Given the description of an element on the screen output the (x, y) to click on. 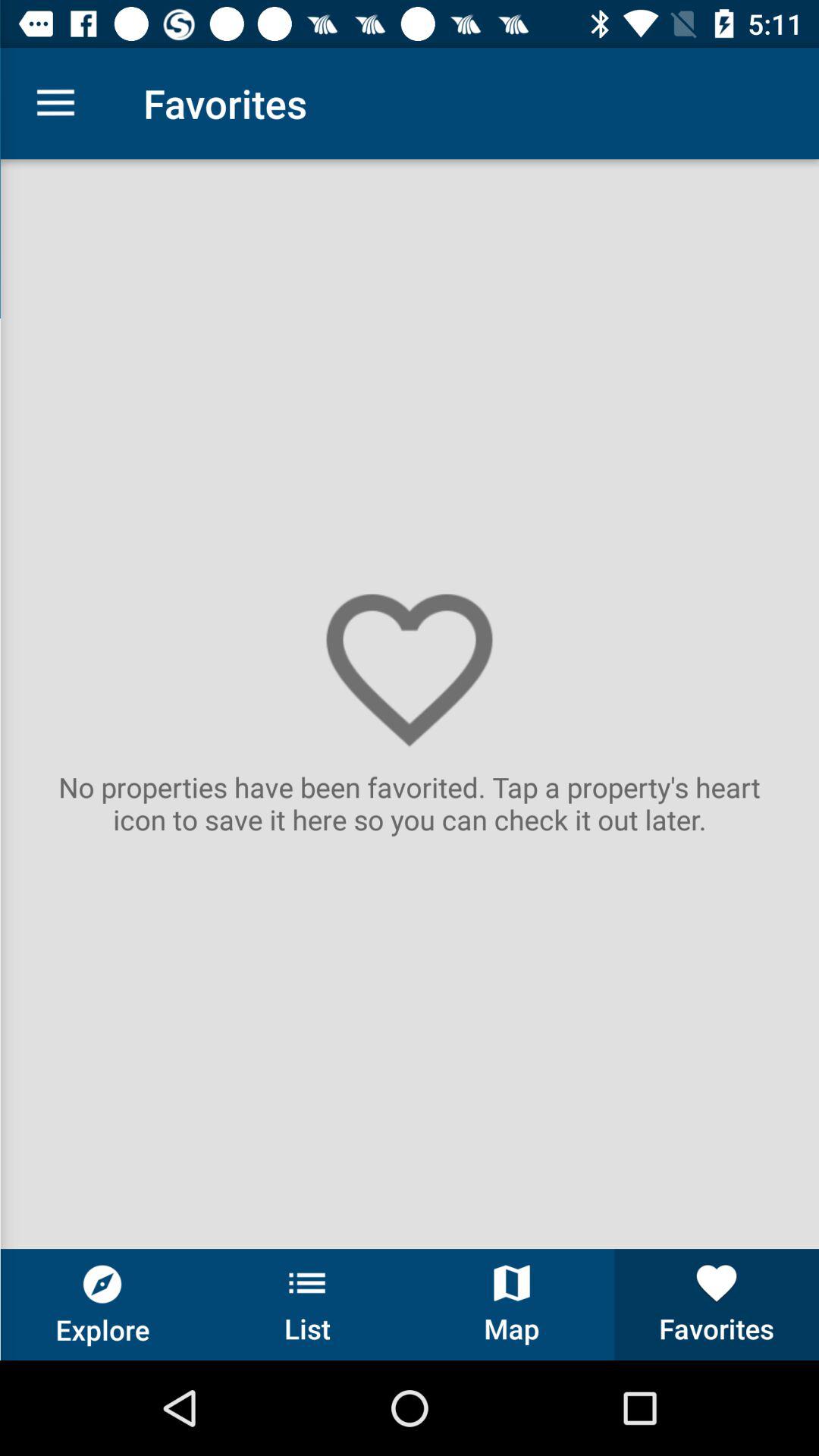
launch icon to the right of list (511, 1304)
